Given the description of an element on the screen output the (x, y) to click on. 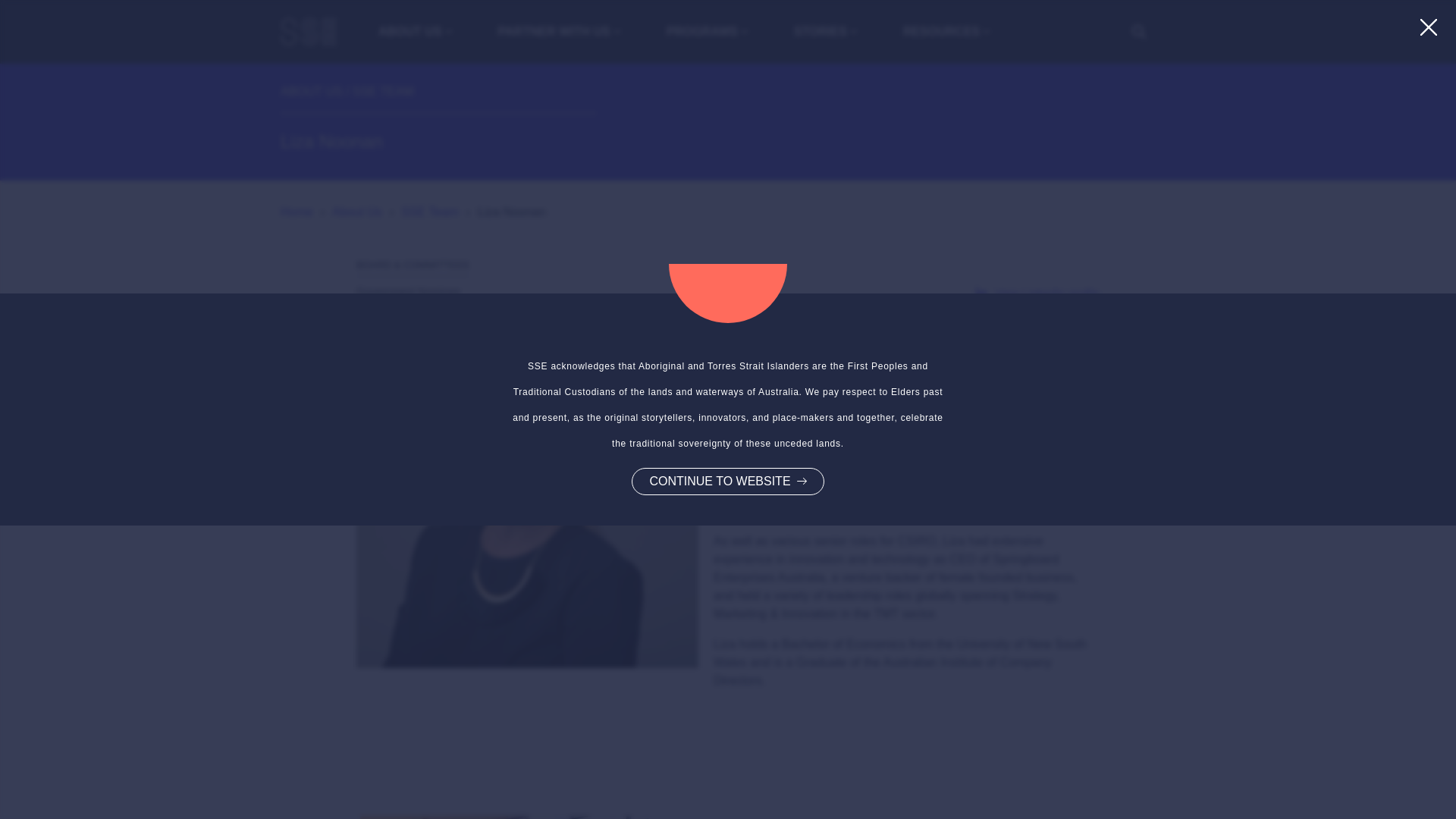
PROGRAMS (707, 31)
STORIES (825, 31)
RESOURCES (946, 31)
SSE (308, 31)
PARTNER WITH US (559, 31)
ABOUT US (415, 31)
